Given the description of an element on the screen output the (x, y) to click on. 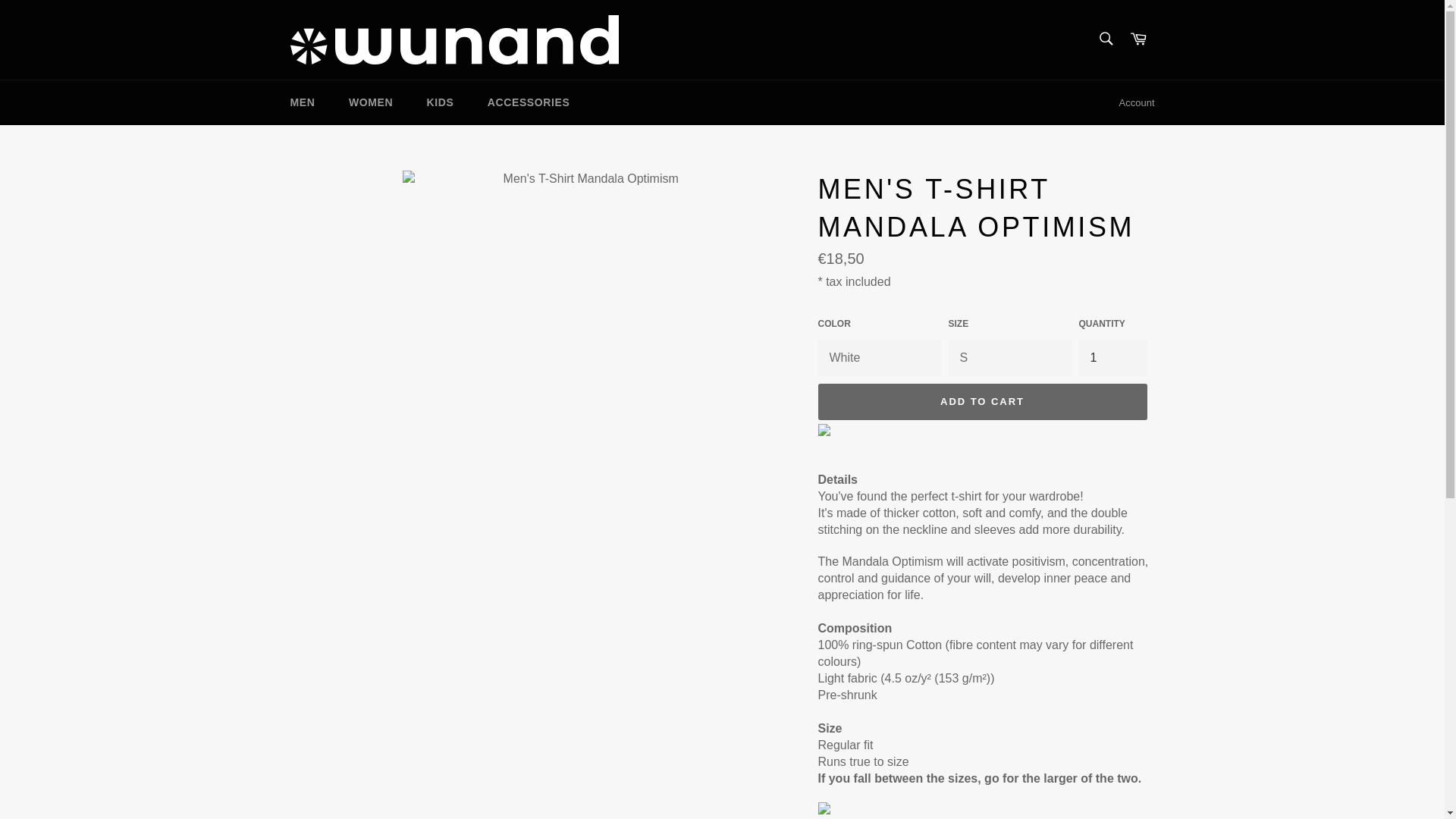
Search (1104, 38)
WOMEN (370, 102)
ADD TO CART (981, 402)
MEN (302, 102)
Account (1136, 103)
ACCESSORIES (528, 102)
KIDS (440, 102)
1 (1112, 357)
Cart (1138, 39)
